Given the description of an element on the screen output the (x, y) to click on. 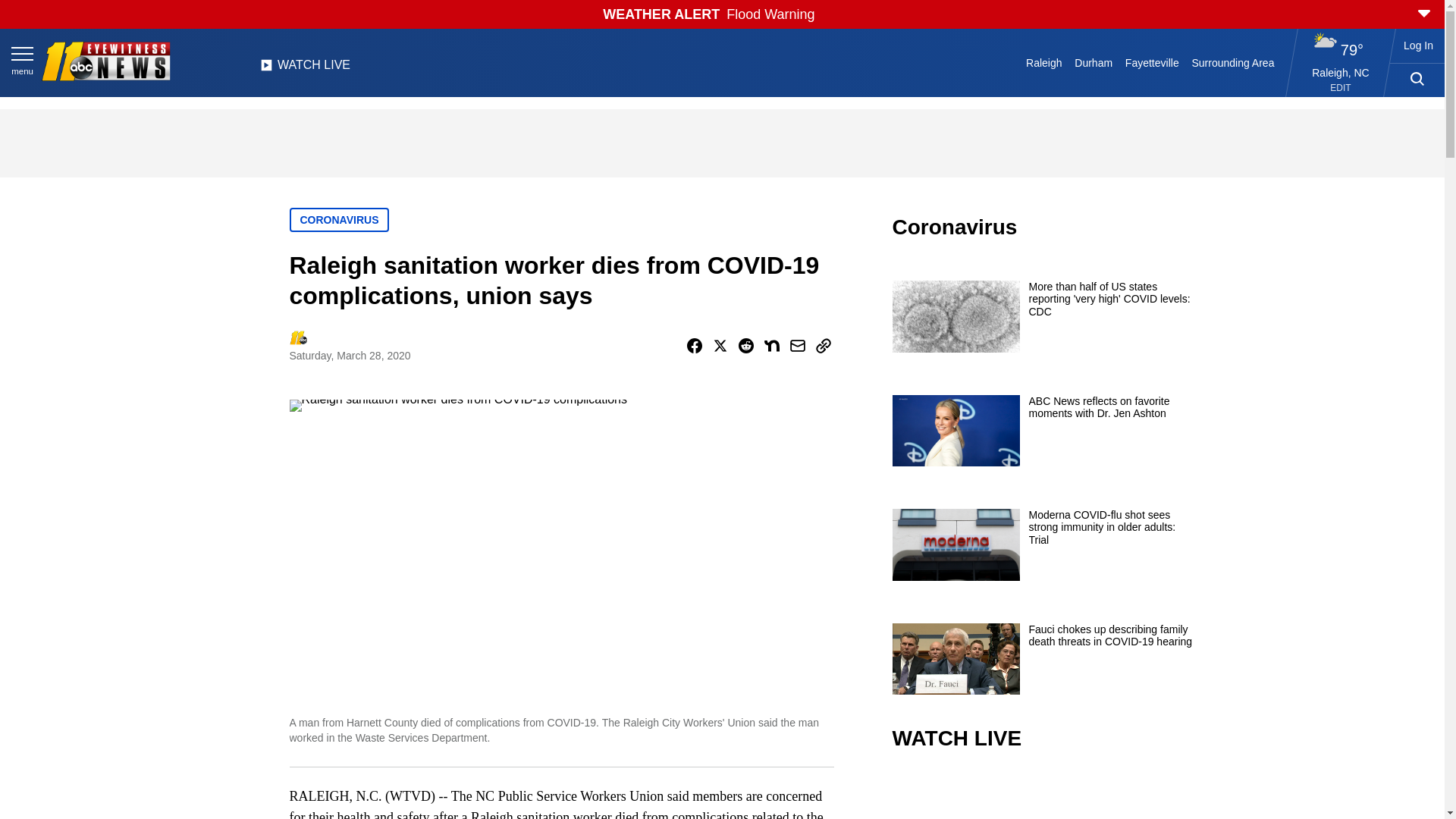
Durham (1093, 62)
Raleigh, NC (1340, 72)
EDIT (1340, 87)
WATCH LIVE (305, 69)
Fayetteville (1151, 62)
video.title (1043, 796)
Surrounding Area (1233, 62)
Raleigh (1044, 62)
